Given the description of an element on the screen output the (x, y) to click on. 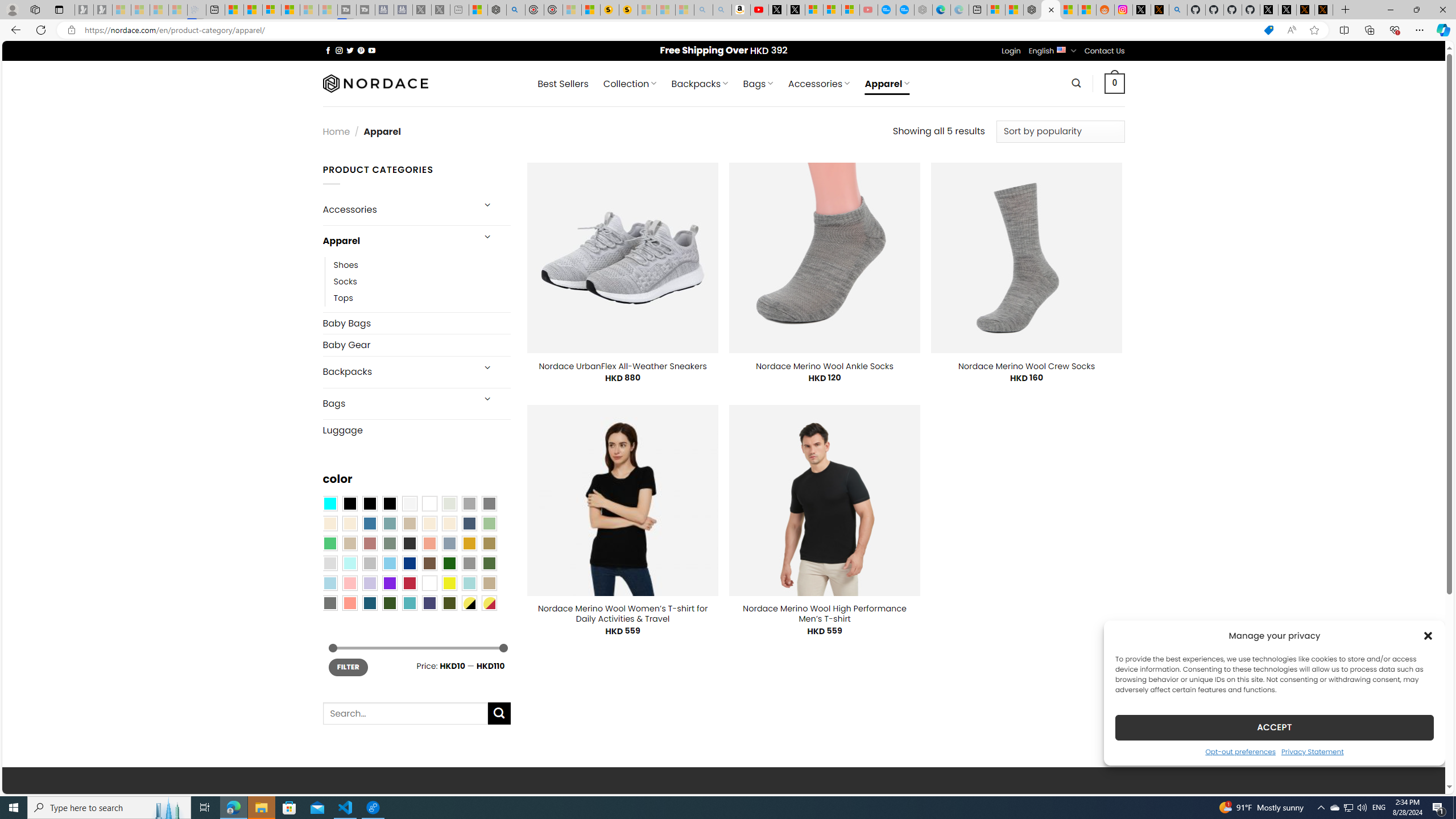
Follow on Instagram (338, 49)
All Gray (488, 503)
Gray (468, 562)
Microsoft Start - Sleeping (309, 9)
Purple (389, 582)
Teal (408, 602)
Accessories (397, 209)
Socks (422, 280)
Brownie (408, 522)
